Given the description of an element on the screen output the (x, y) to click on. 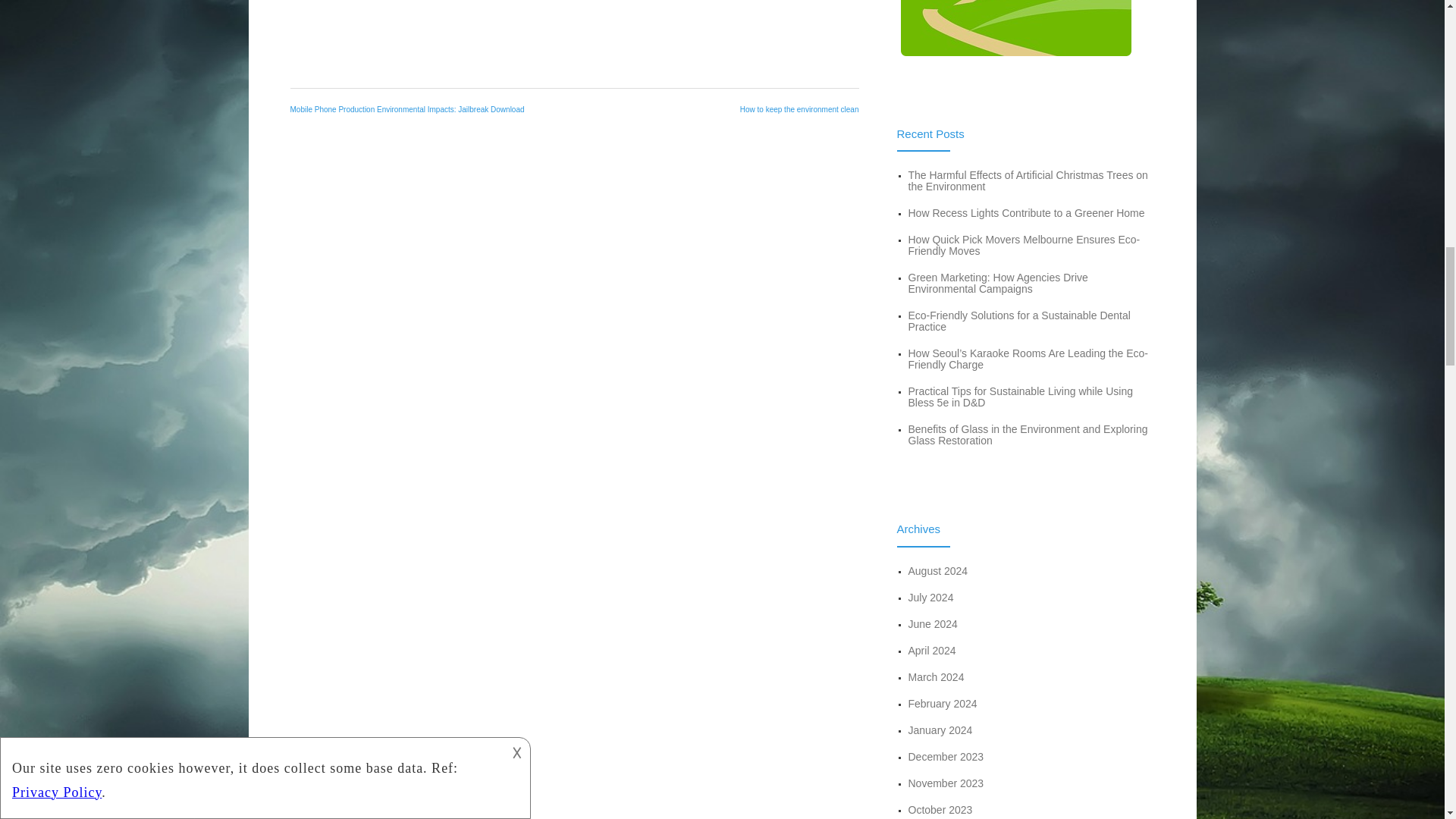
Are Electric Cars Really More Environmentally Friendly? (573, 27)
How to keep the environment clean (799, 109)
